Given the description of an element on the screen output the (x, y) to click on. 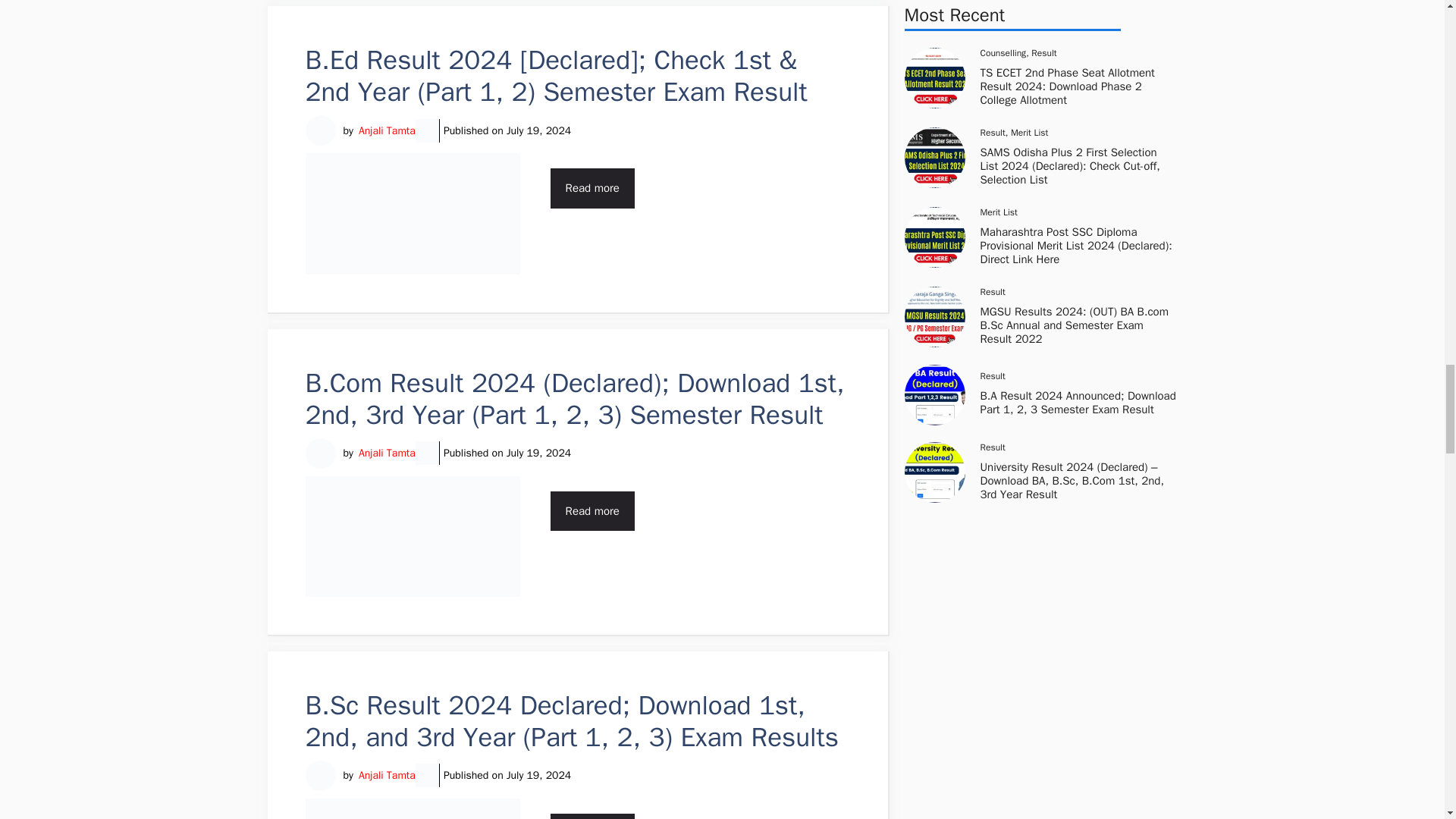
Anjali Tamta (386, 453)
Anjali Tamta (386, 130)
Read more (592, 188)
